Given the description of an element on the screen output the (x, y) to click on. 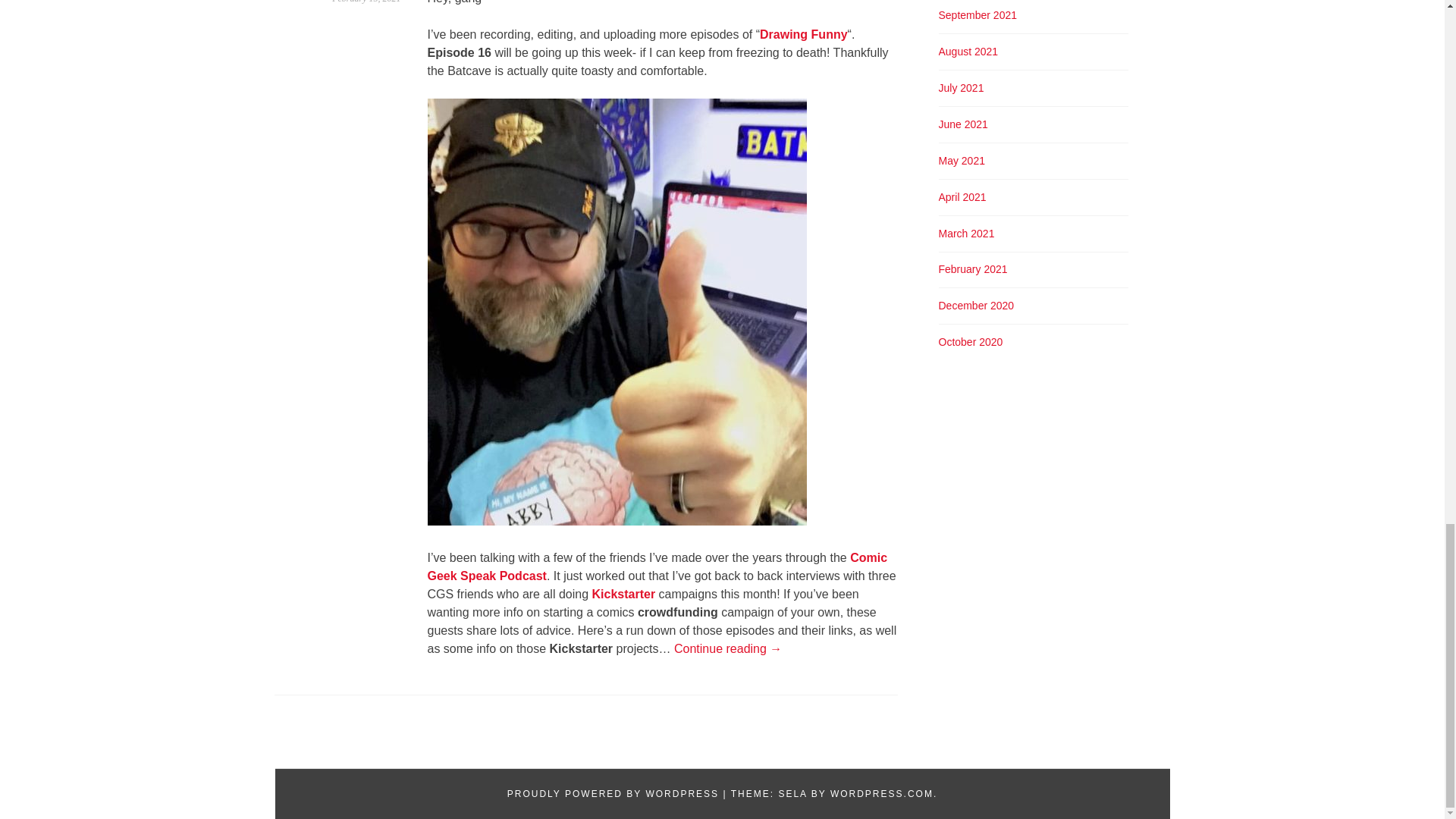
A Semantic Personal Publishing Platform (612, 793)
Drawing Funny (803, 33)
Comic Geek Speak Podcast (658, 566)
Kickstarter (623, 594)
February 15, 2021 (365, 2)
